Given the description of an element on the screen output the (x, y) to click on. 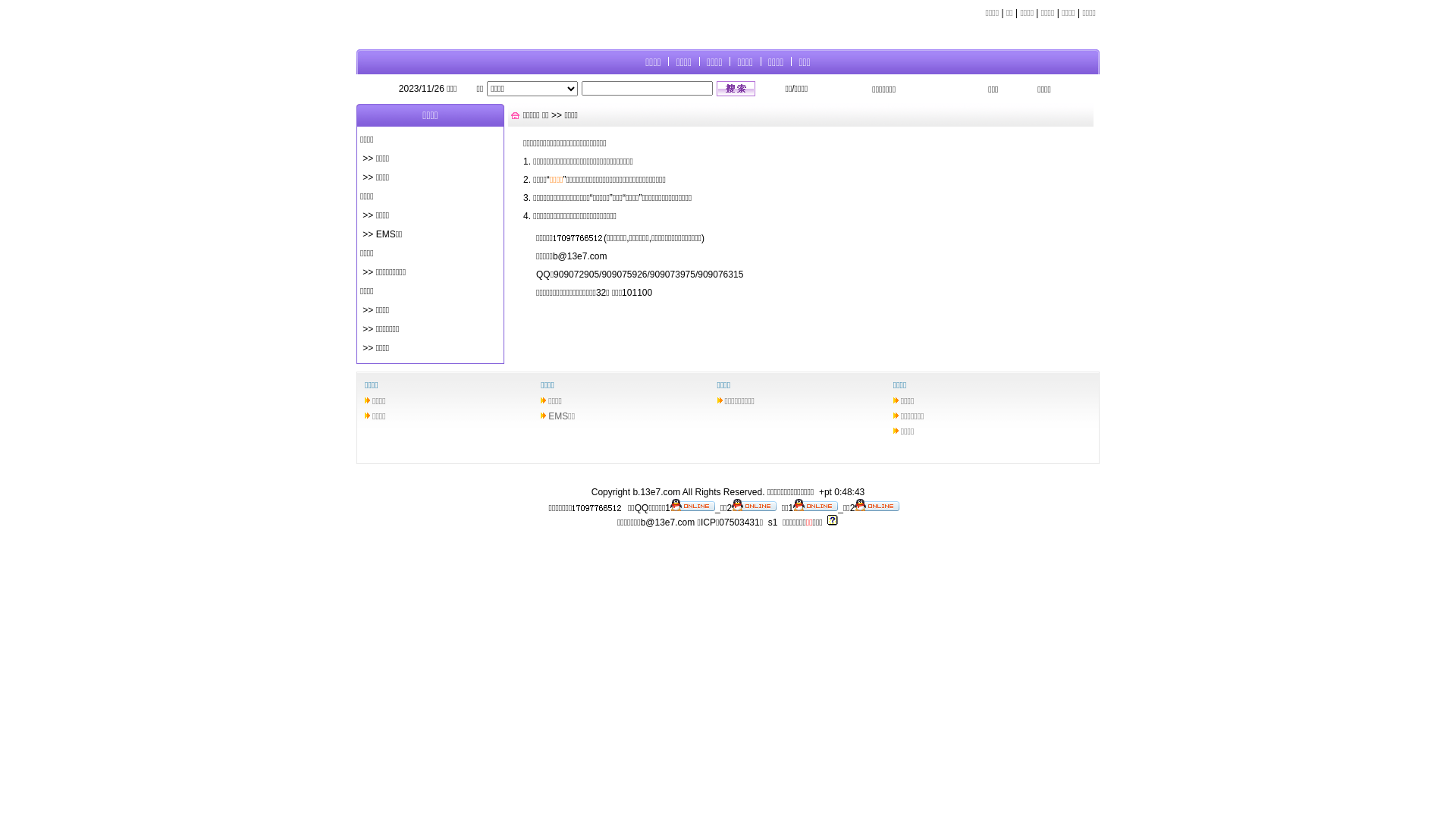
b@13e7.com Element type: text (667, 522)
b.13e7.com Element type: text (656, 491)
